Given the description of an element on the screen output the (x, y) to click on. 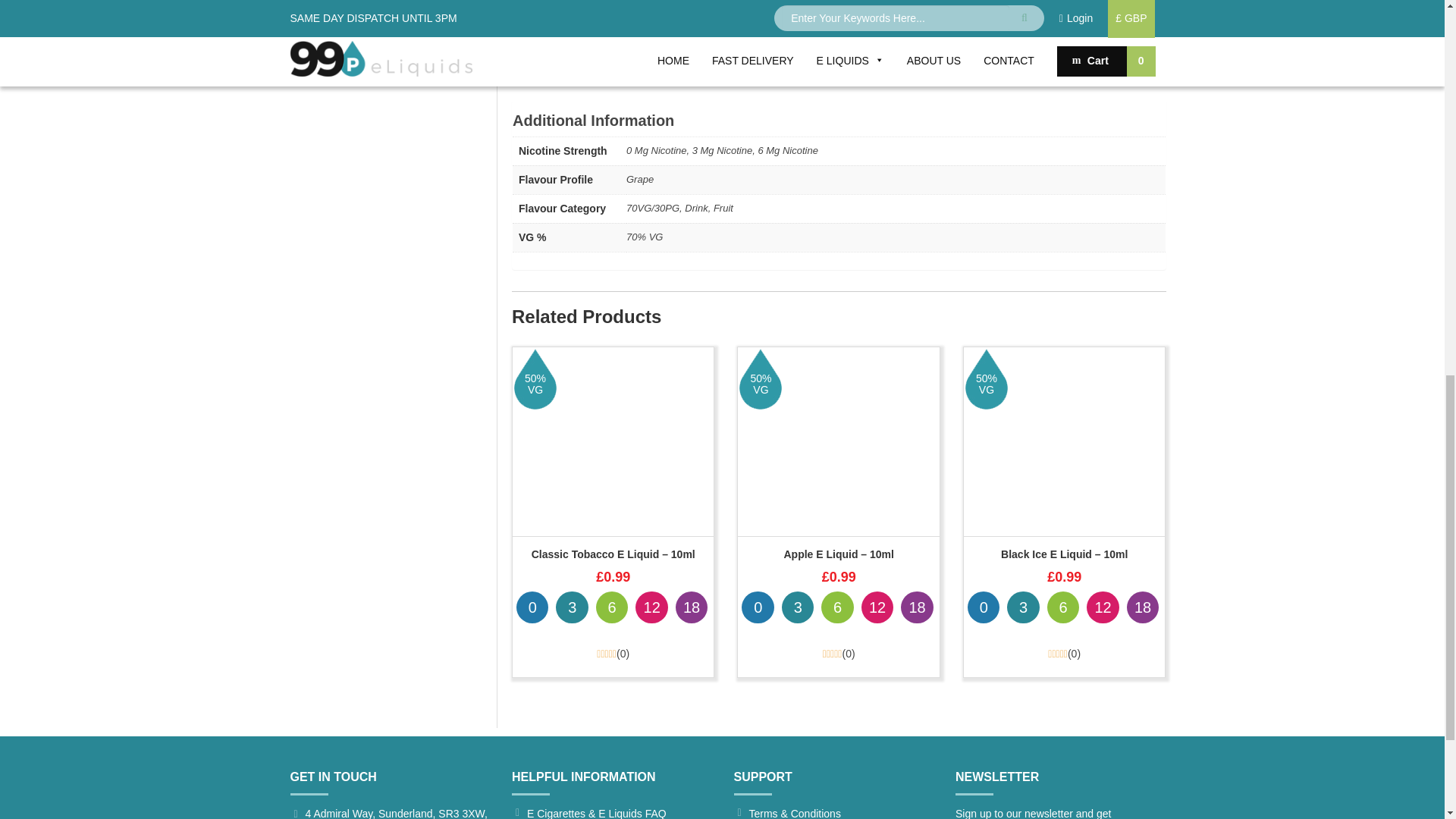
0 mg Nicotine Strength is in Stock (757, 607)
6 mg Nicotine Strength is in Stock (611, 607)
12 mg Nicotine Strength is in Stock (650, 607)
18 mg Nicotine Strength is in Stock (691, 607)
0 mg Nicotine Strength is in Stock (532, 607)
3 mg Nicotine Strength is in Stock (572, 607)
